Given the description of an element on the screen output the (x, y) to click on. 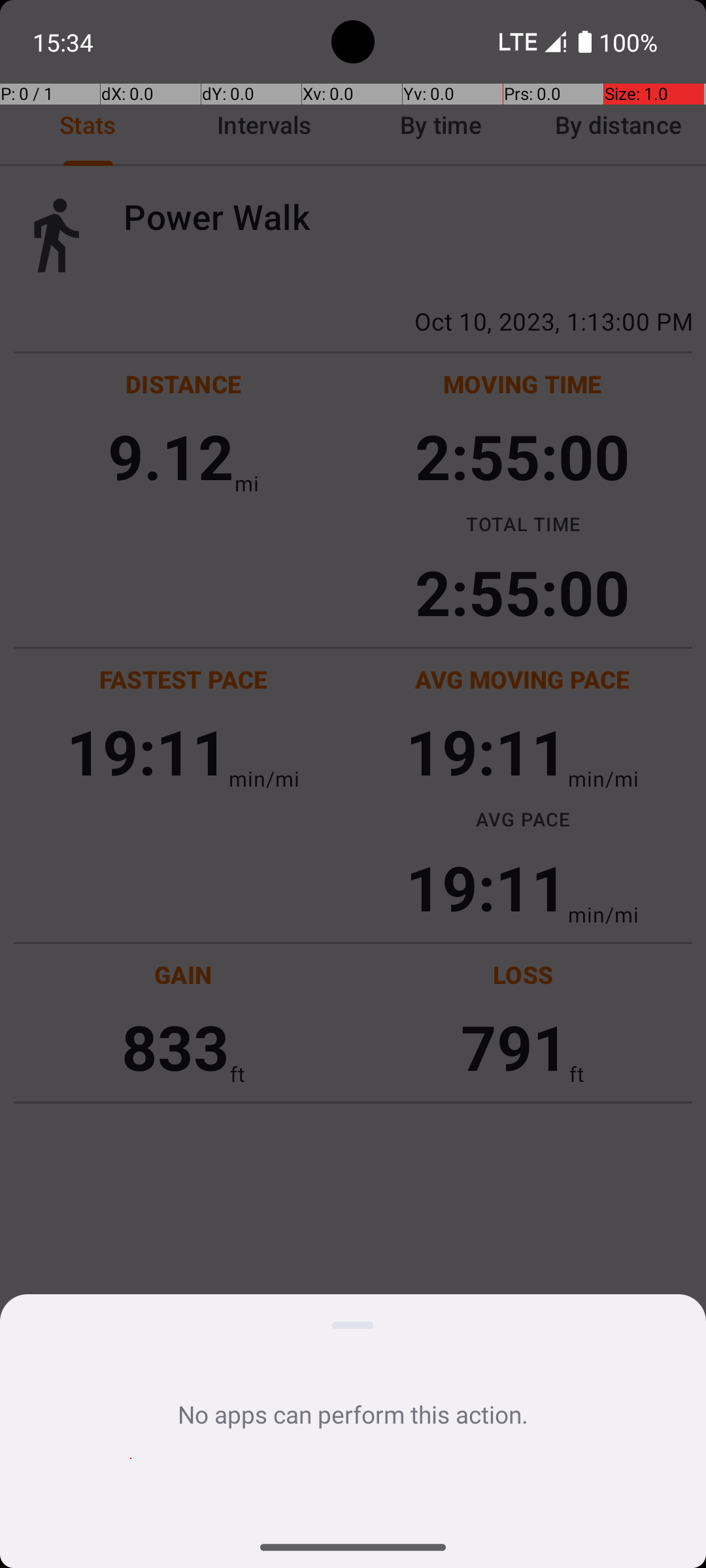
No apps can perform this action. Element type: android.widget.TextView (352, 1413)
